Given the description of an element on the screen output the (x, y) to click on. 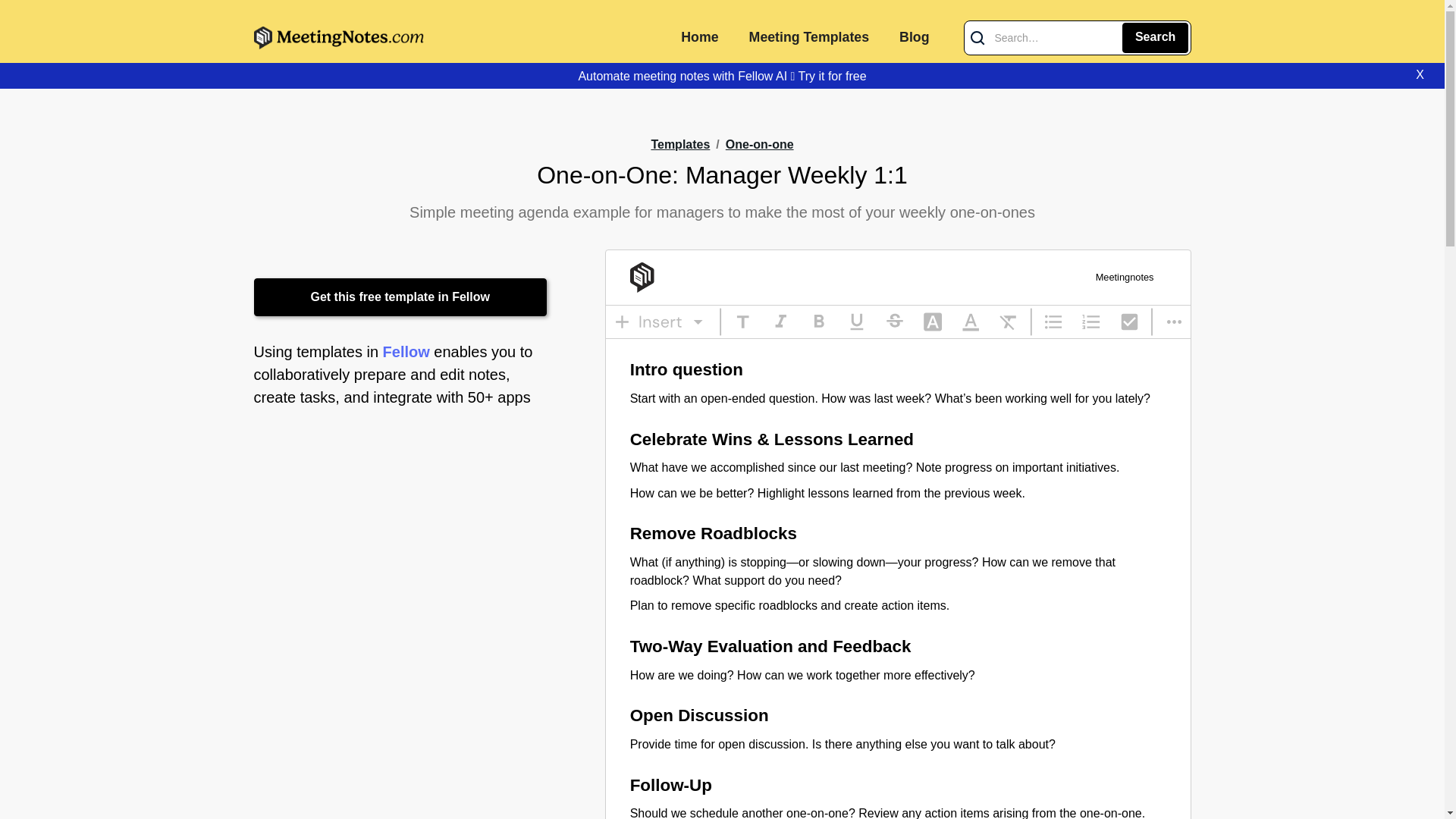
Search (1155, 37)
One-on-one (759, 144)
Search (1155, 37)
Blog (913, 37)
Home (699, 37)
Get this free template in Fellow (399, 297)
Meeting Templates (808, 37)
Search (1155, 37)
Templates (680, 144)
Fellow (405, 352)
